Given the description of an element on the screen output the (x, y) to click on. 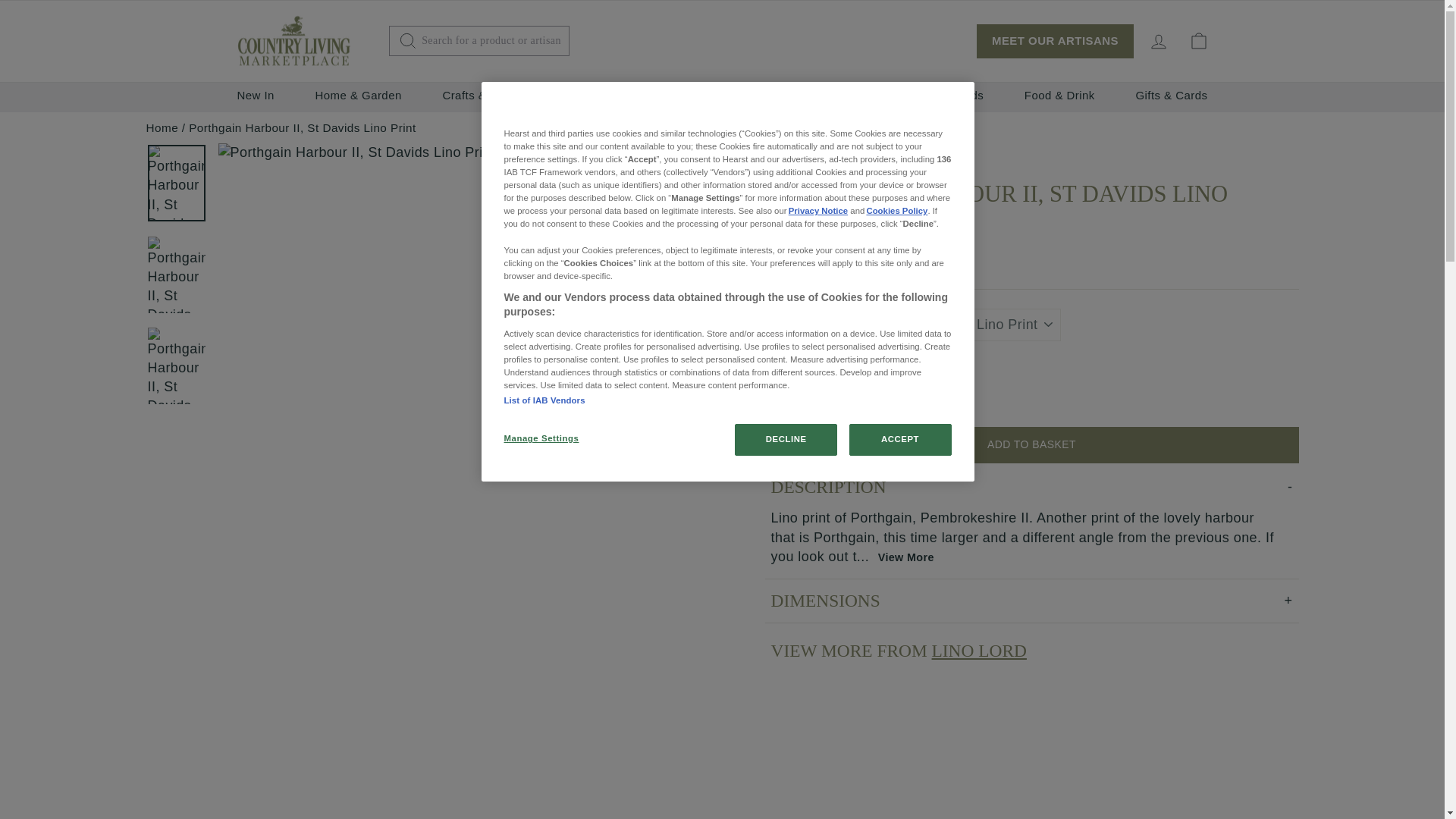
Lino Lord (807, 150)
1 (794, 389)
Cookies Policy (896, 210)
Privacy Notice (818, 210)
Back to the frontpage (161, 127)
